Given the description of an element on the screen output the (x, y) to click on. 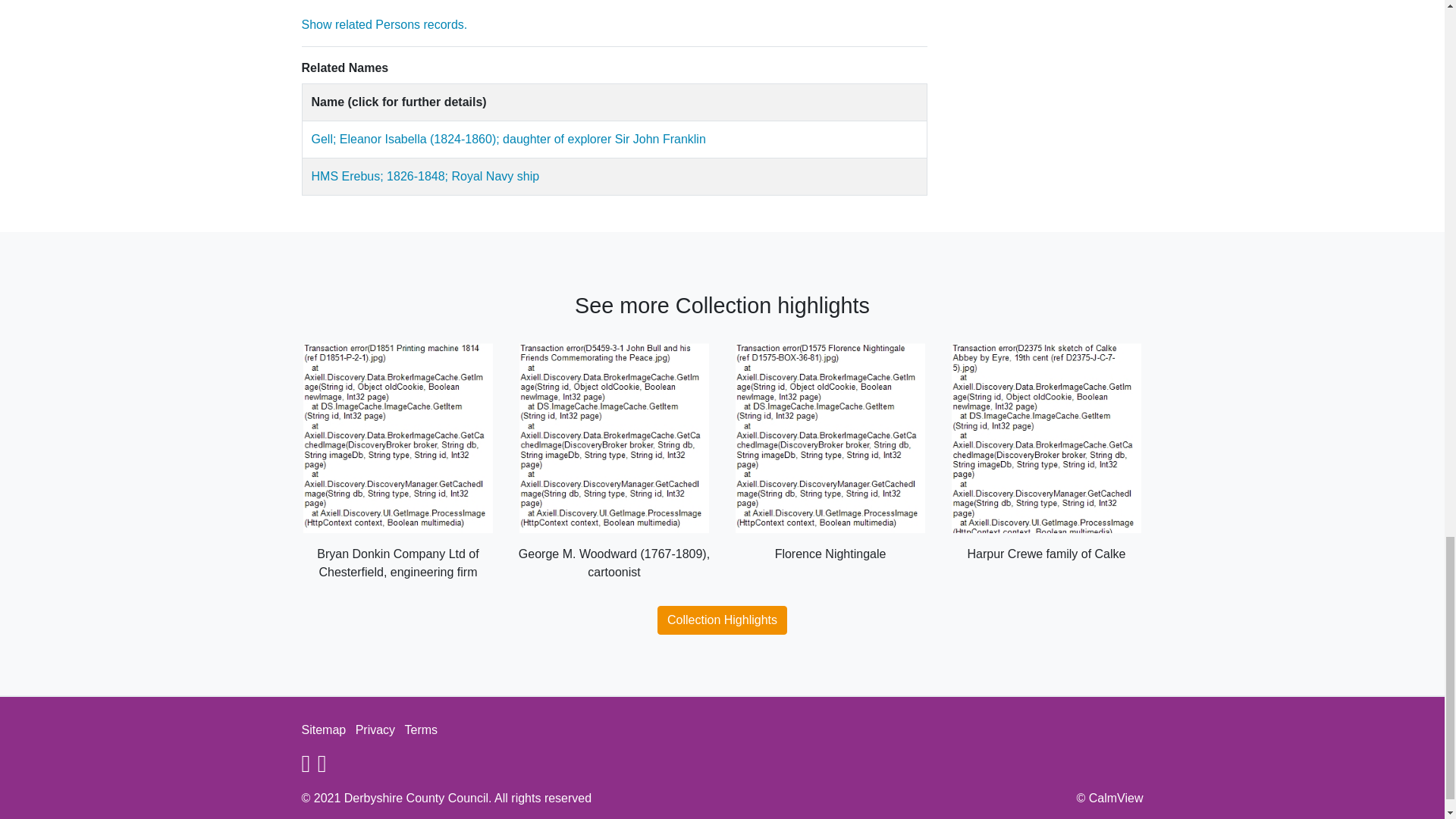
Collection Highlights (722, 620)
Show related Persons records. (384, 24)
Show related Persons records. (384, 24)
HMS Erebus; 1826-1848; Royal Navy ship (424, 175)
Show related Persons records. (424, 175)
Privacy (374, 729)
Terms (421, 729)
Sitemap (323, 729)
Show related Persons records. (507, 138)
